Given the description of an element on the screen output the (x, y) to click on. 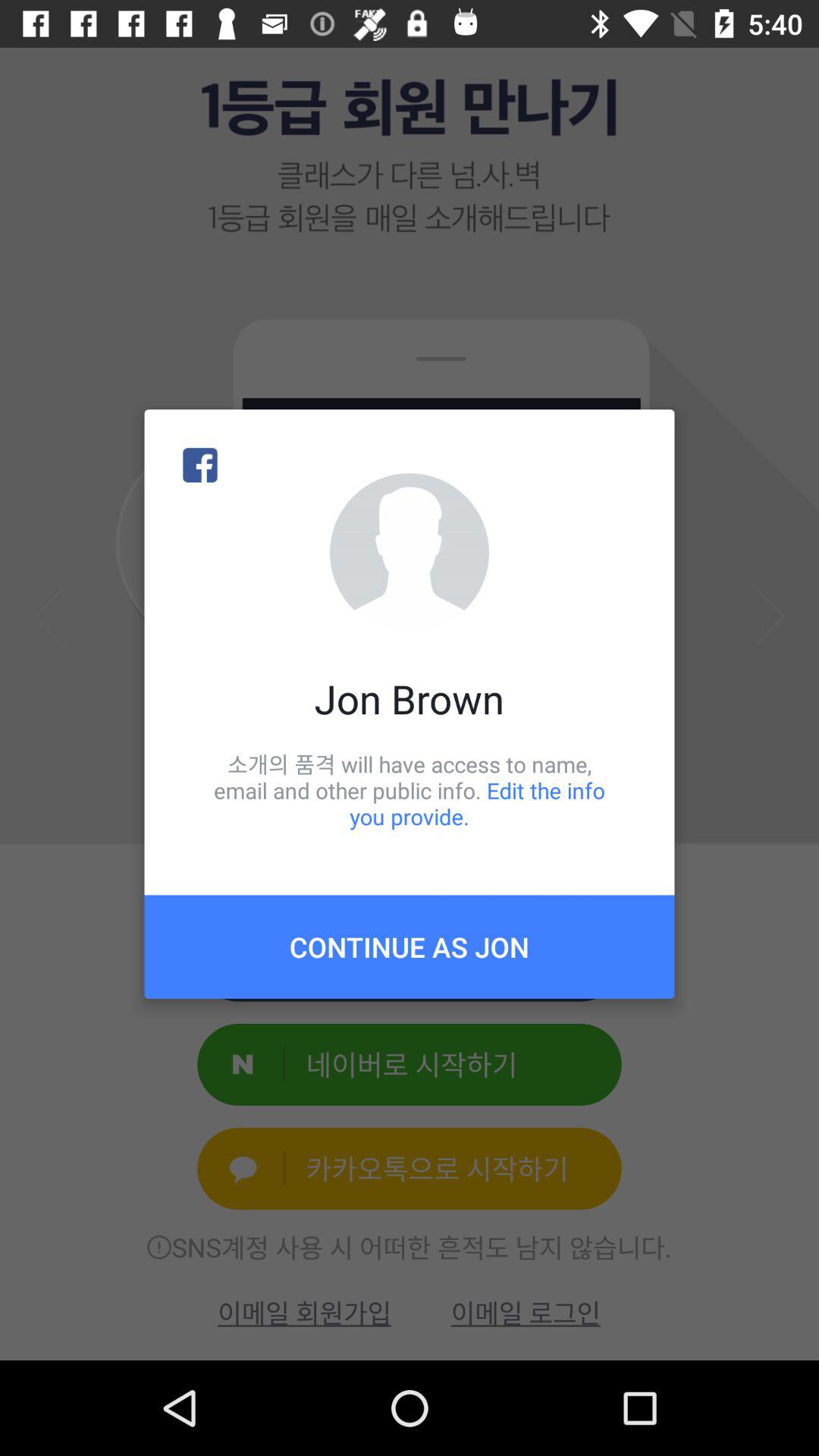
flip to continue as jon item (409, 946)
